Given the description of an element on the screen output the (x, y) to click on. 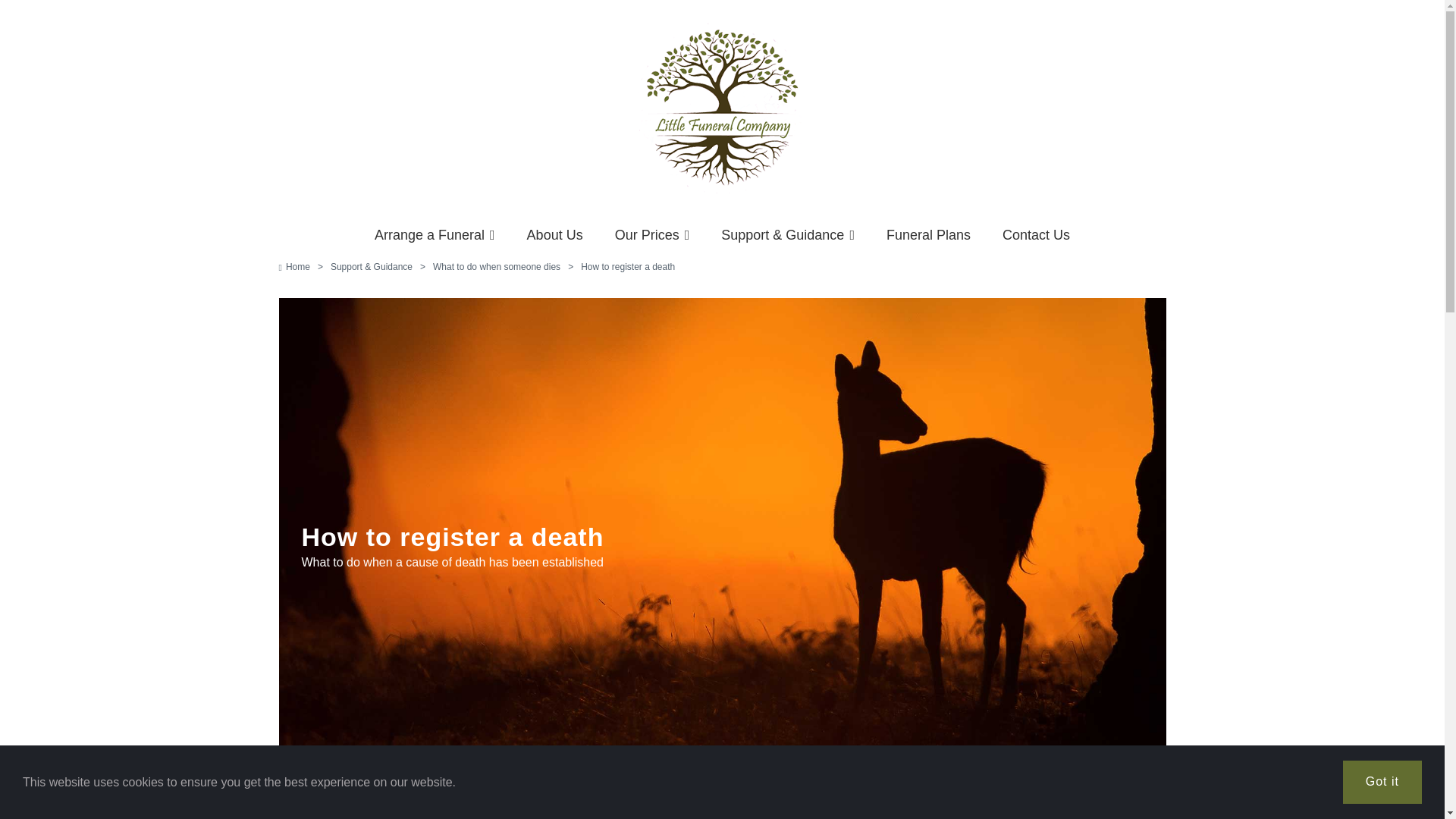
Home (294, 267)
What to do when someone dies (496, 267)
Funeral Plans (928, 235)
About Us (555, 235)
Our Prices (651, 235)
Contact Us (1035, 235)
Arrange a Funeral (434, 235)
